Given the description of an element on the screen output the (x, y) to click on. 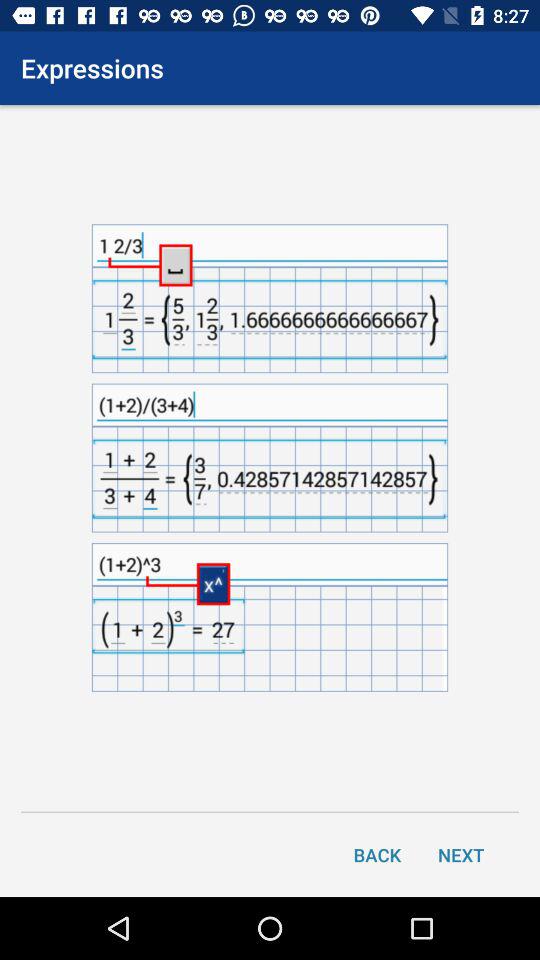
scroll until the next icon (461, 854)
